Given the description of an element on the screen output the (x, y) to click on. 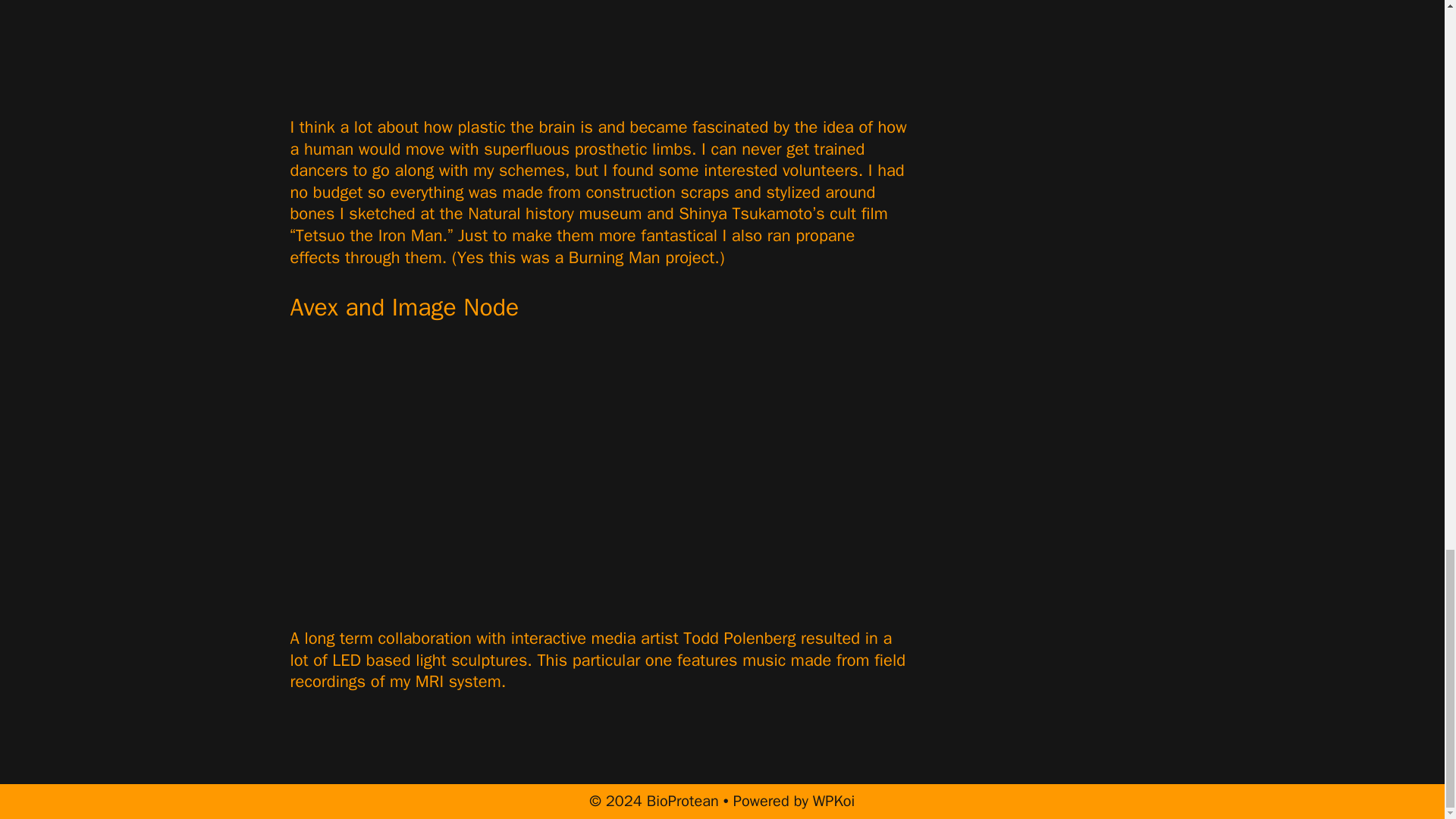
NYC Sparkworks (598, 55)
AVEX: Interactive Audiovisual Artwork (531, 485)
WPKoi (834, 800)
